Given the description of an element on the screen output the (x, y) to click on. 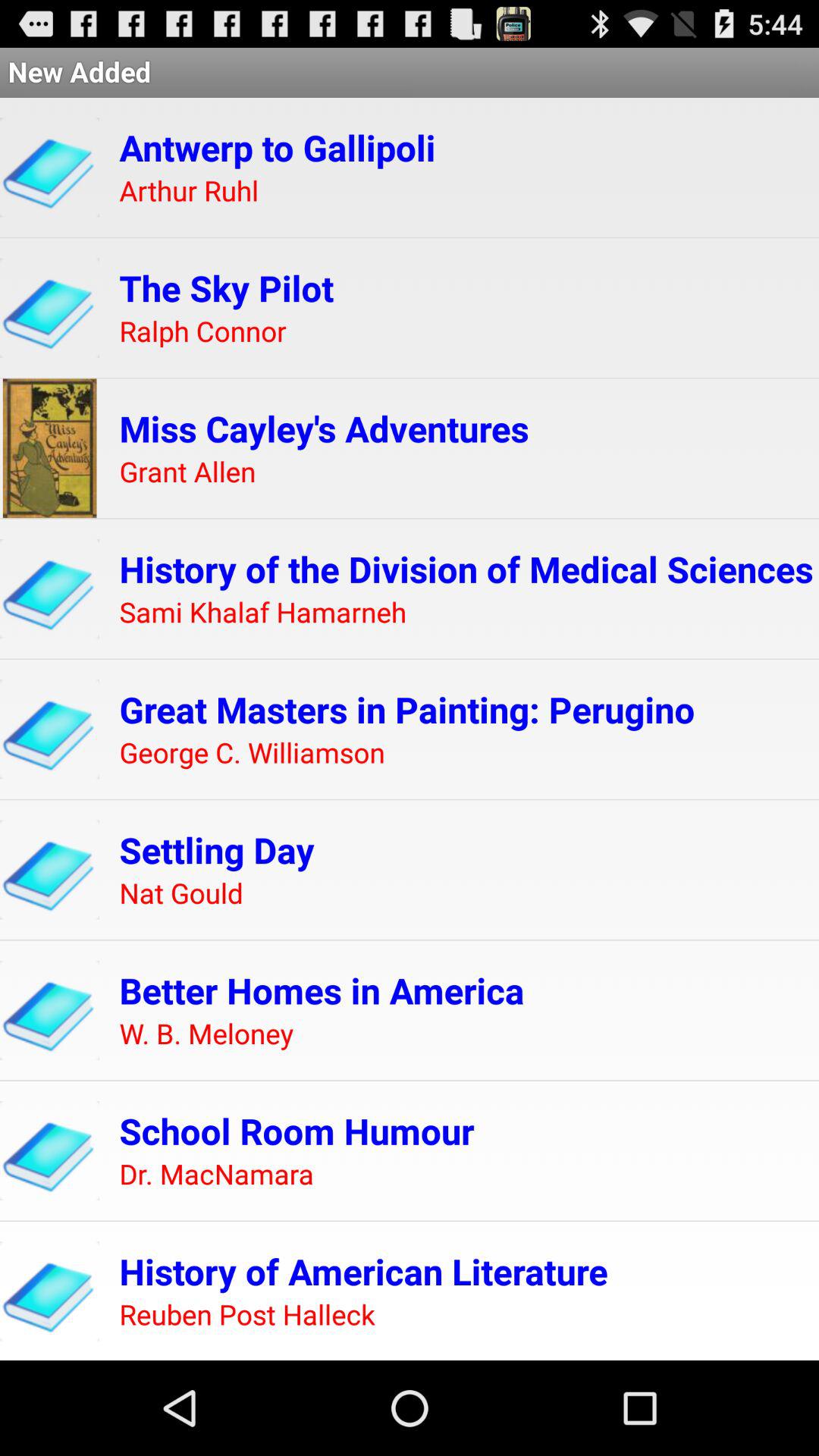
launch the great masters in icon (407, 709)
